Given the description of an element on the screen output the (x, y) to click on. 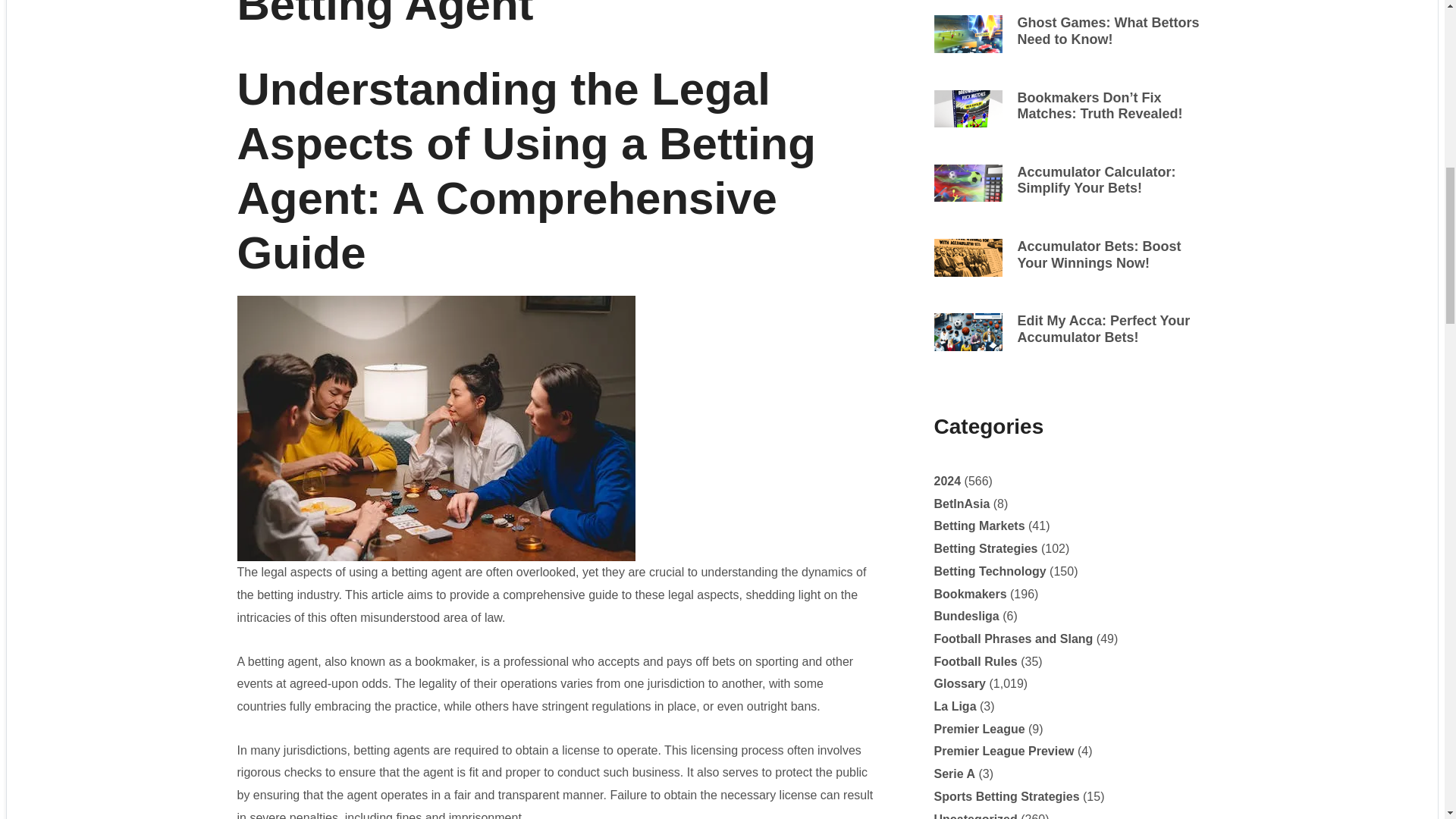
Ghost Games: What Bettors Need to Know! (1108, 30)
